Given the description of an element on the screen output the (x, y) to click on. 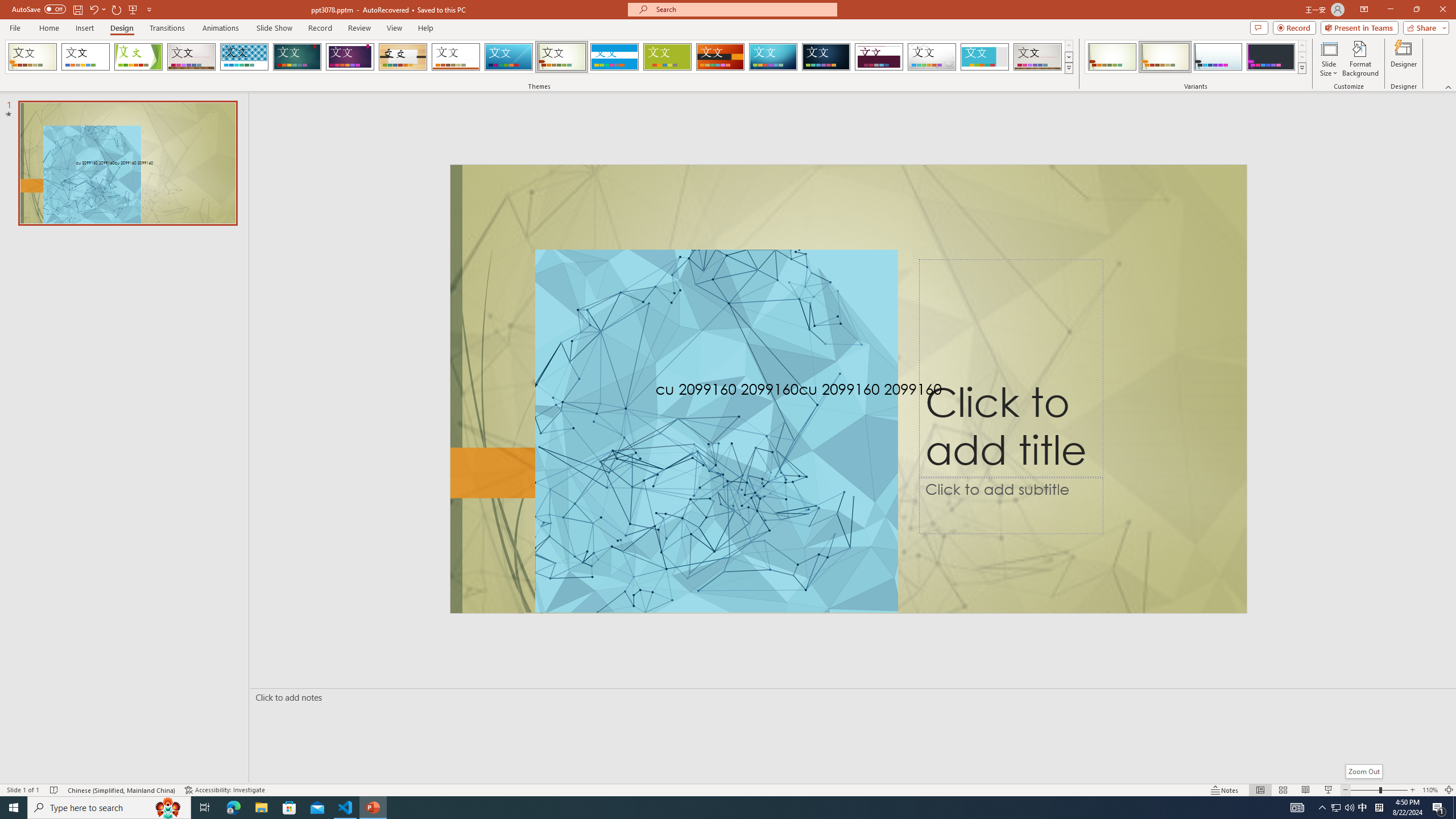
Facet (138, 56)
Frame Loading Preview... (984, 56)
Wisp Variant 2 (1164, 56)
Damask Loading Preview... (826, 56)
Wisp Loading Preview... (561, 56)
